Given the description of an element on the screen output the (x, y) to click on. 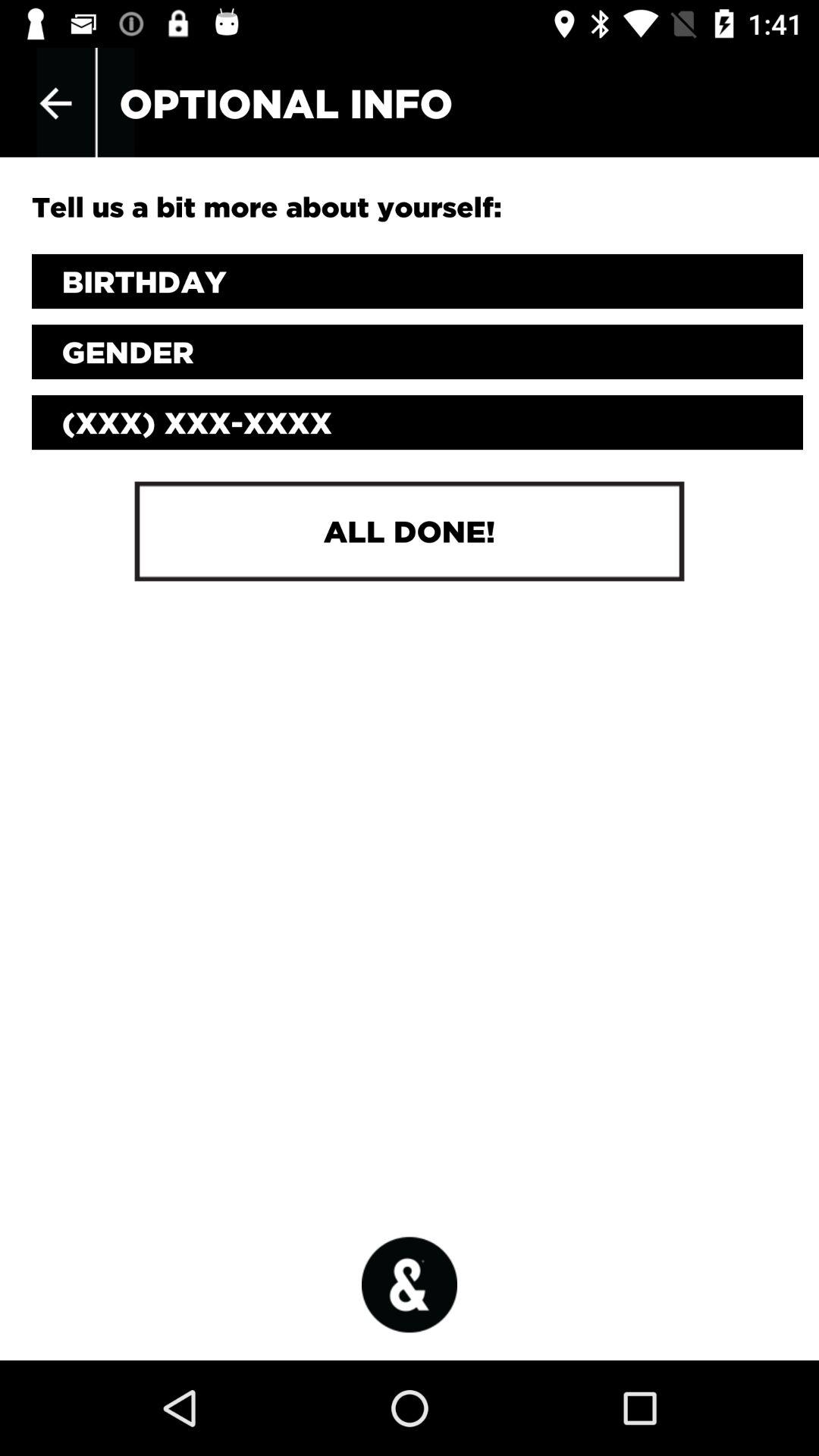
phone number (417, 422)
